Given the description of an element on the screen output the (x, y) to click on. 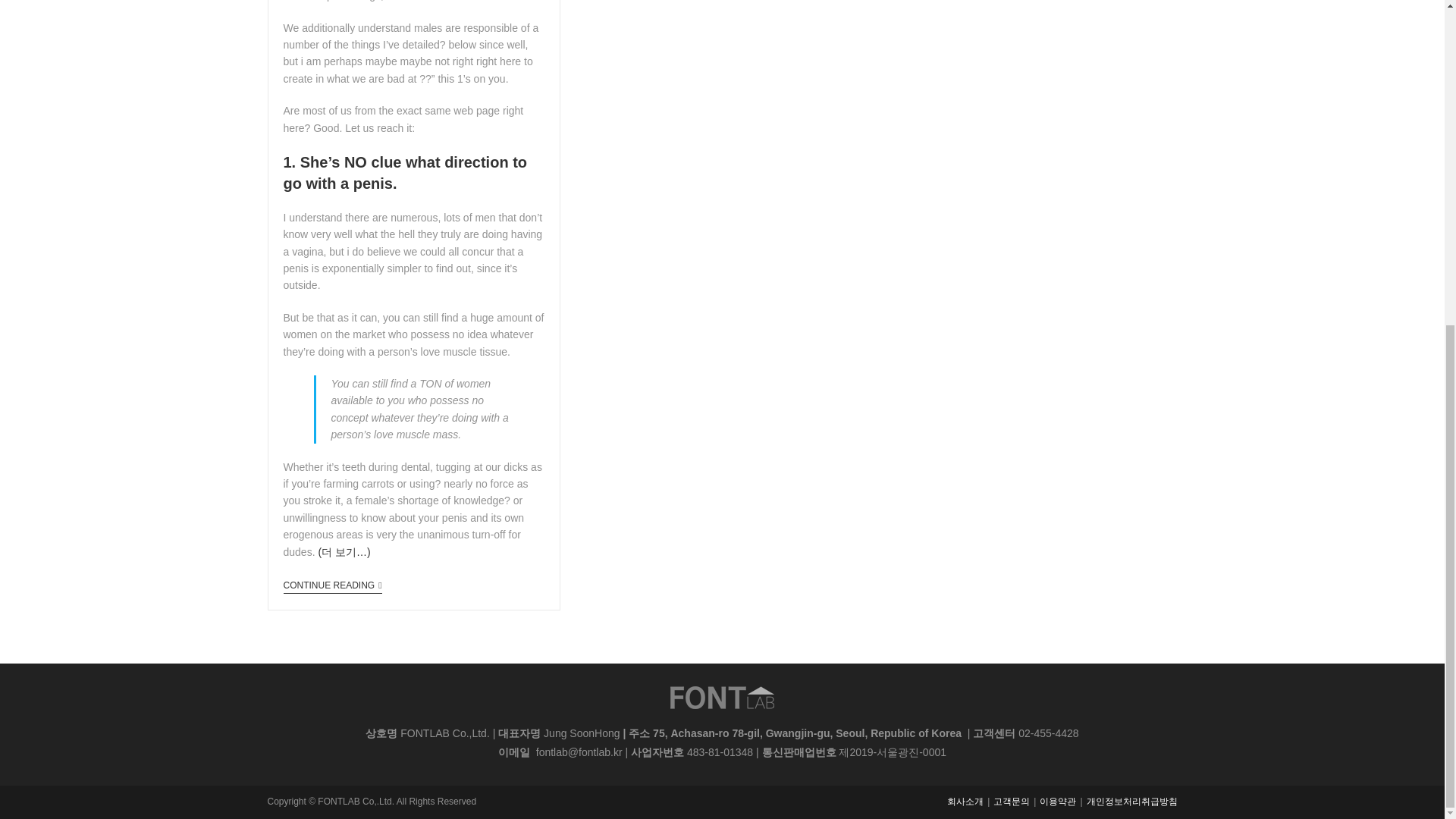
Continue Reading (332, 586)
CONTINUE READING (332, 586)
